Given the description of an element on the screen output the (x, y) to click on. 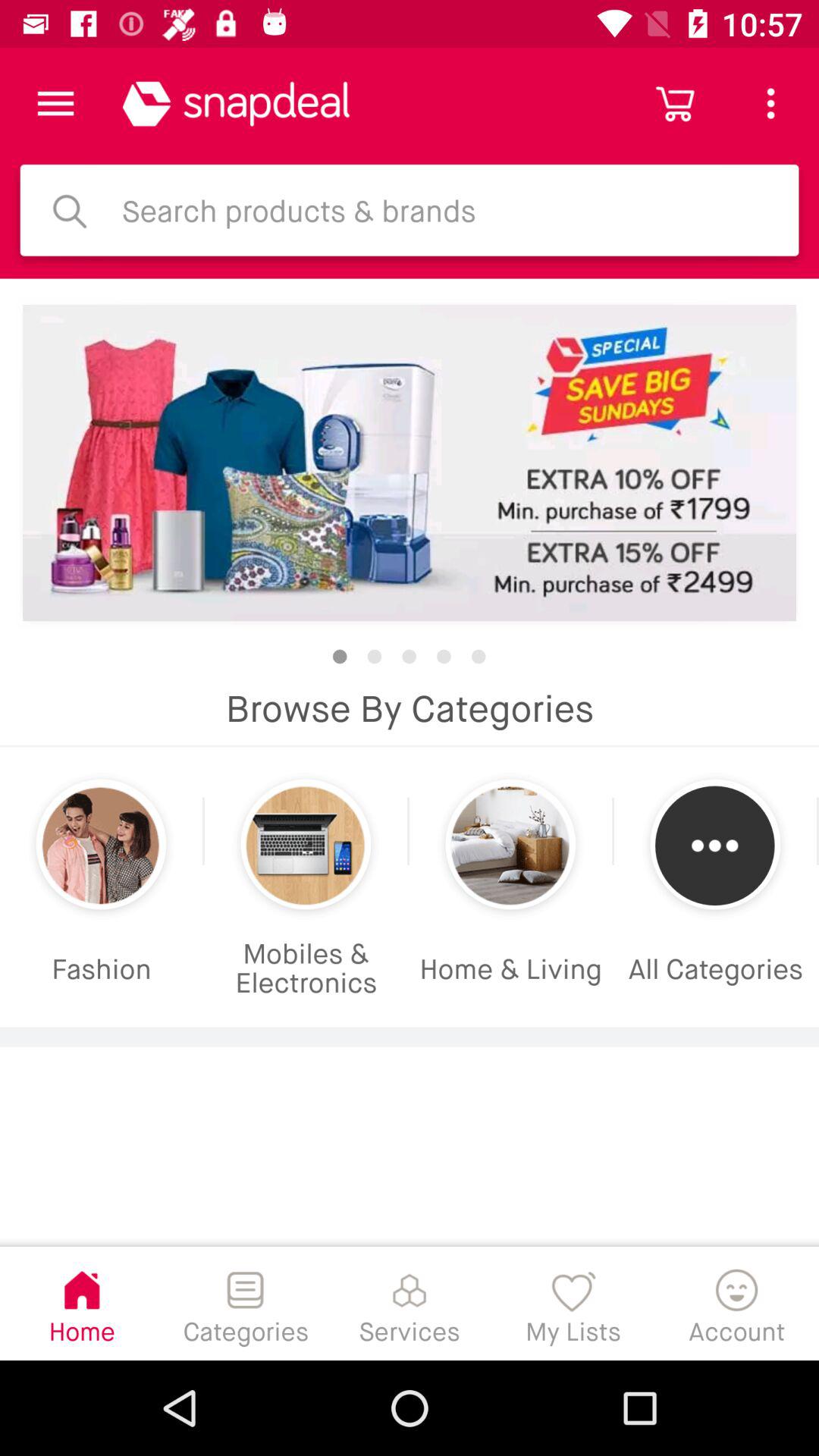
open menu (55, 103)
